Given the description of an element on the screen output the (x, y) to click on. 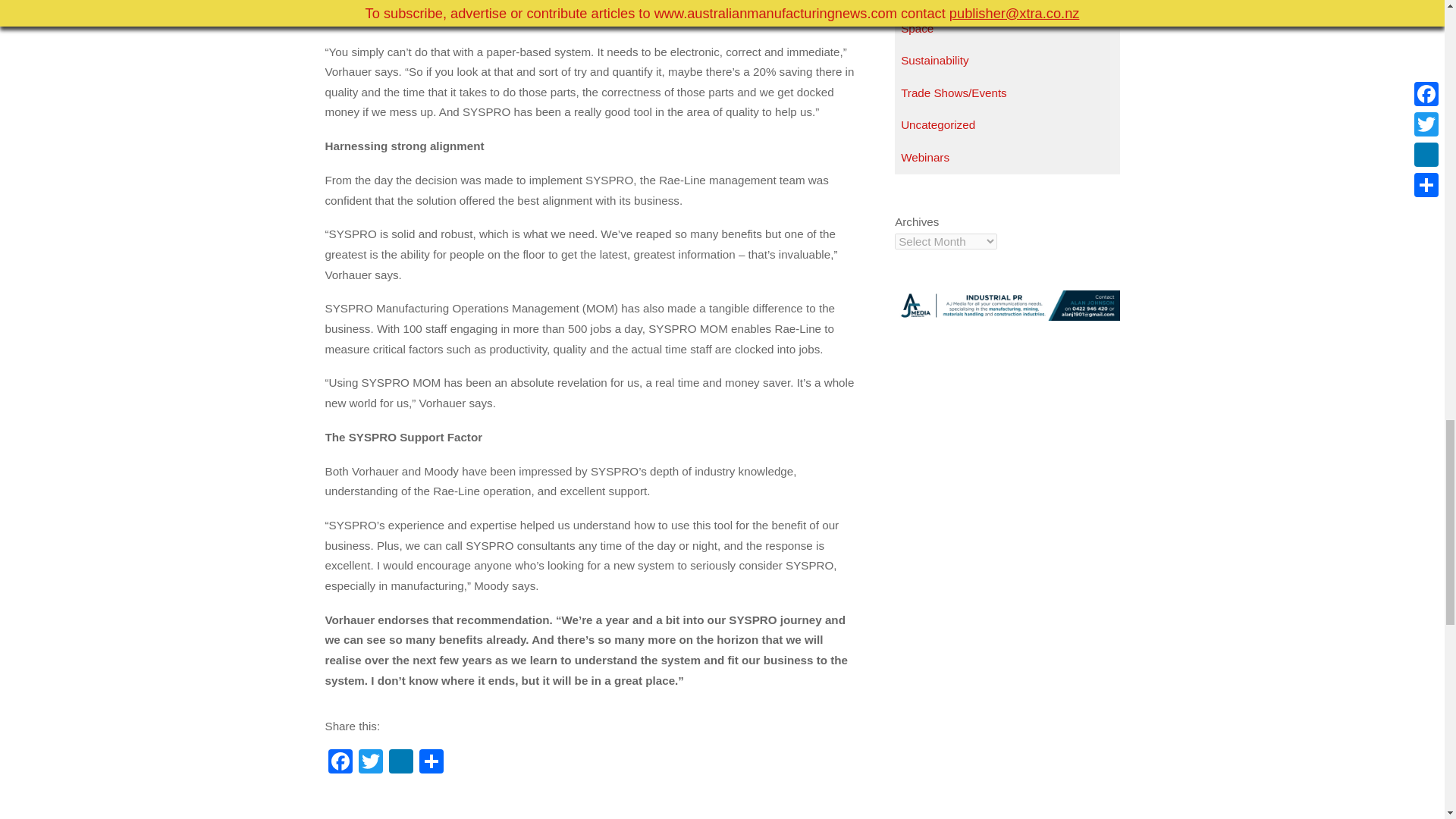
Facebook (339, 763)
Twitter (370, 763)
LinkedIn (399, 763)
